Given the description of an element on the screen output the (x, y) to click on. 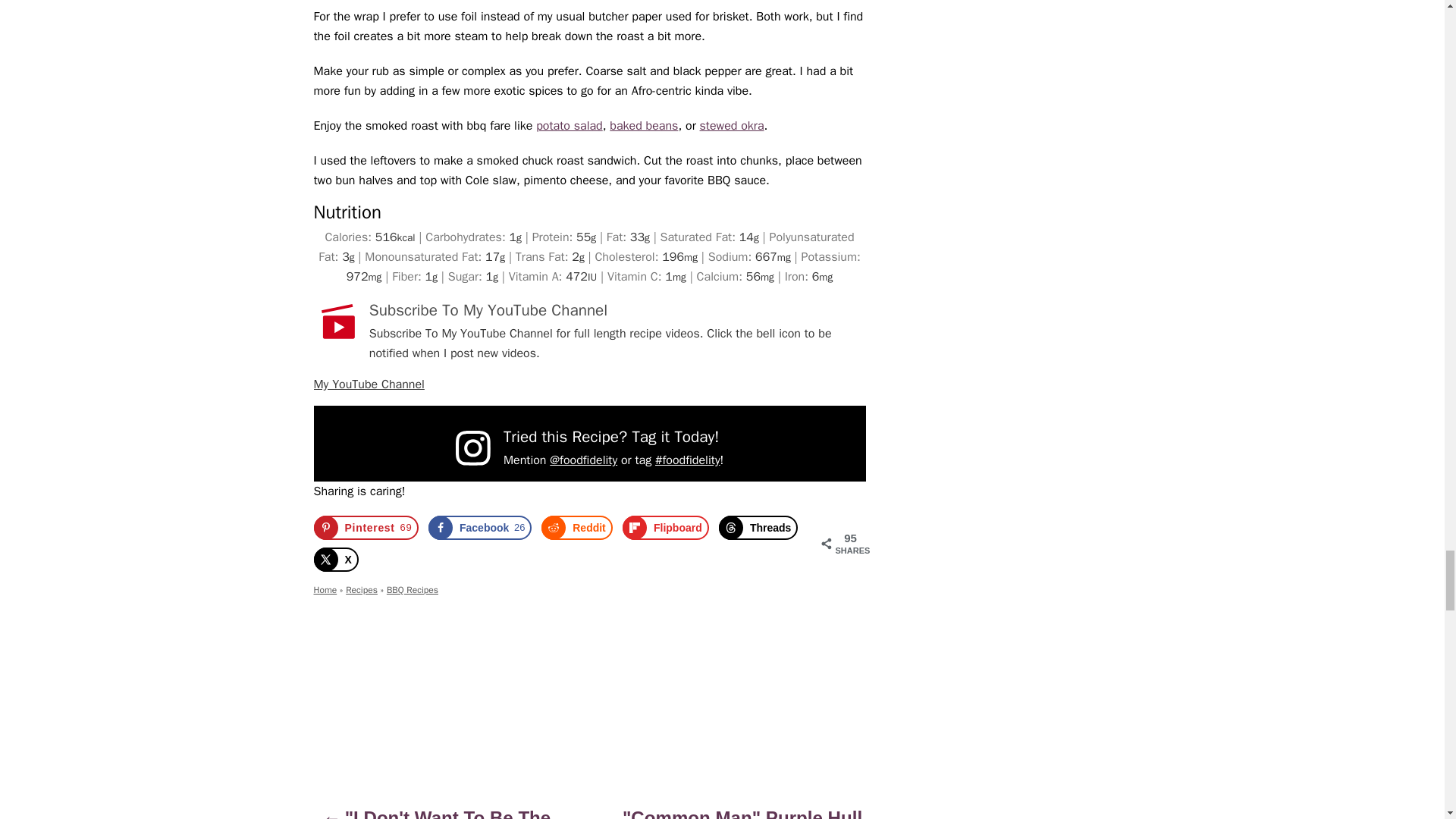
Share on X (336, 559)
Save to Pinterest (366, 527)
Share on Flipboard (666, 527)
Share on Facebook (479, 527)
Share on Threads (758, 527)
Share on Reddit (576, 527)
